Given the description of an element on the screen output the (x, y) to click on. 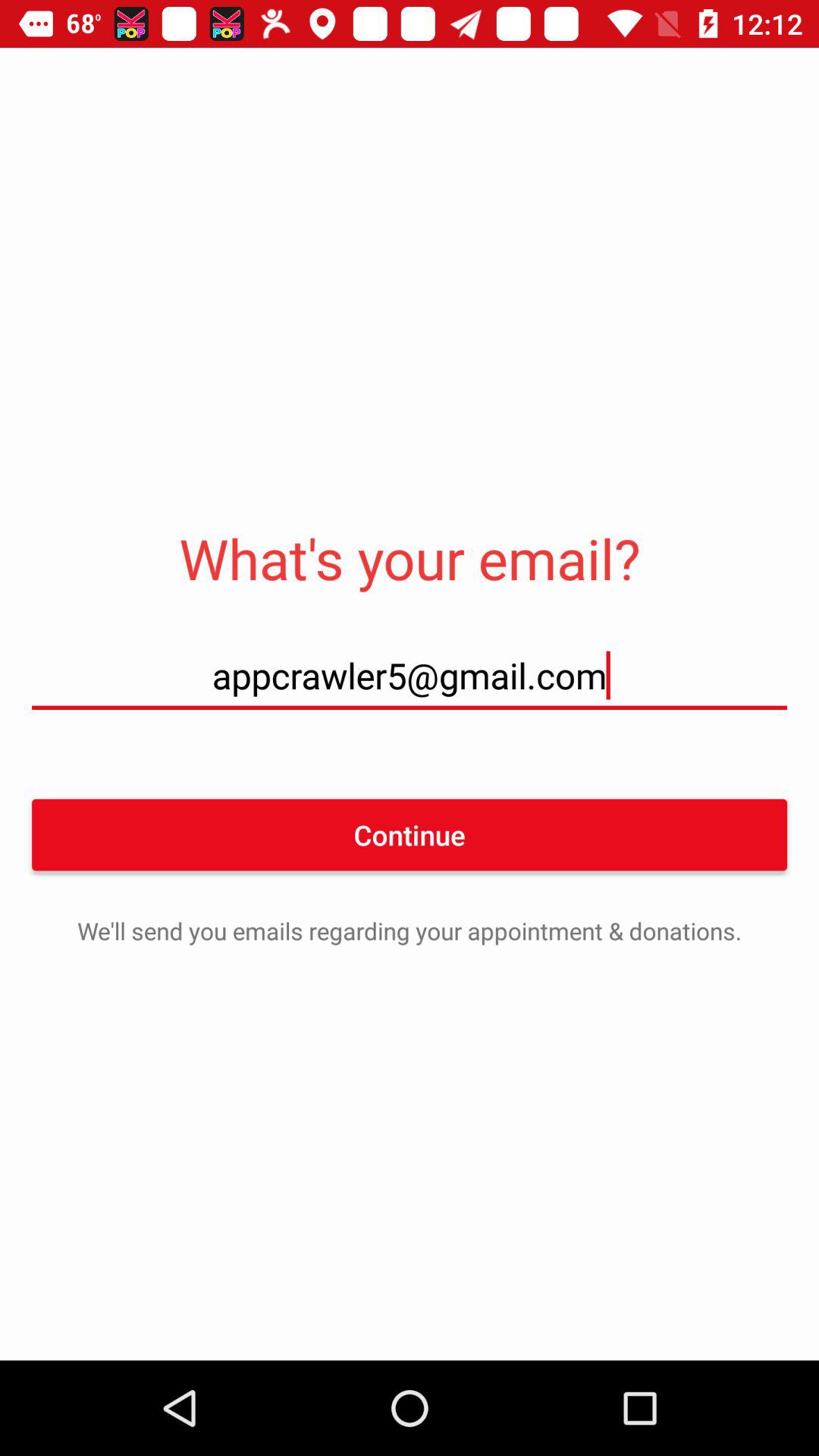
select the item below what s your icon (409, 675)
